Given the description of an element on the screen output the (x, y) to click on. 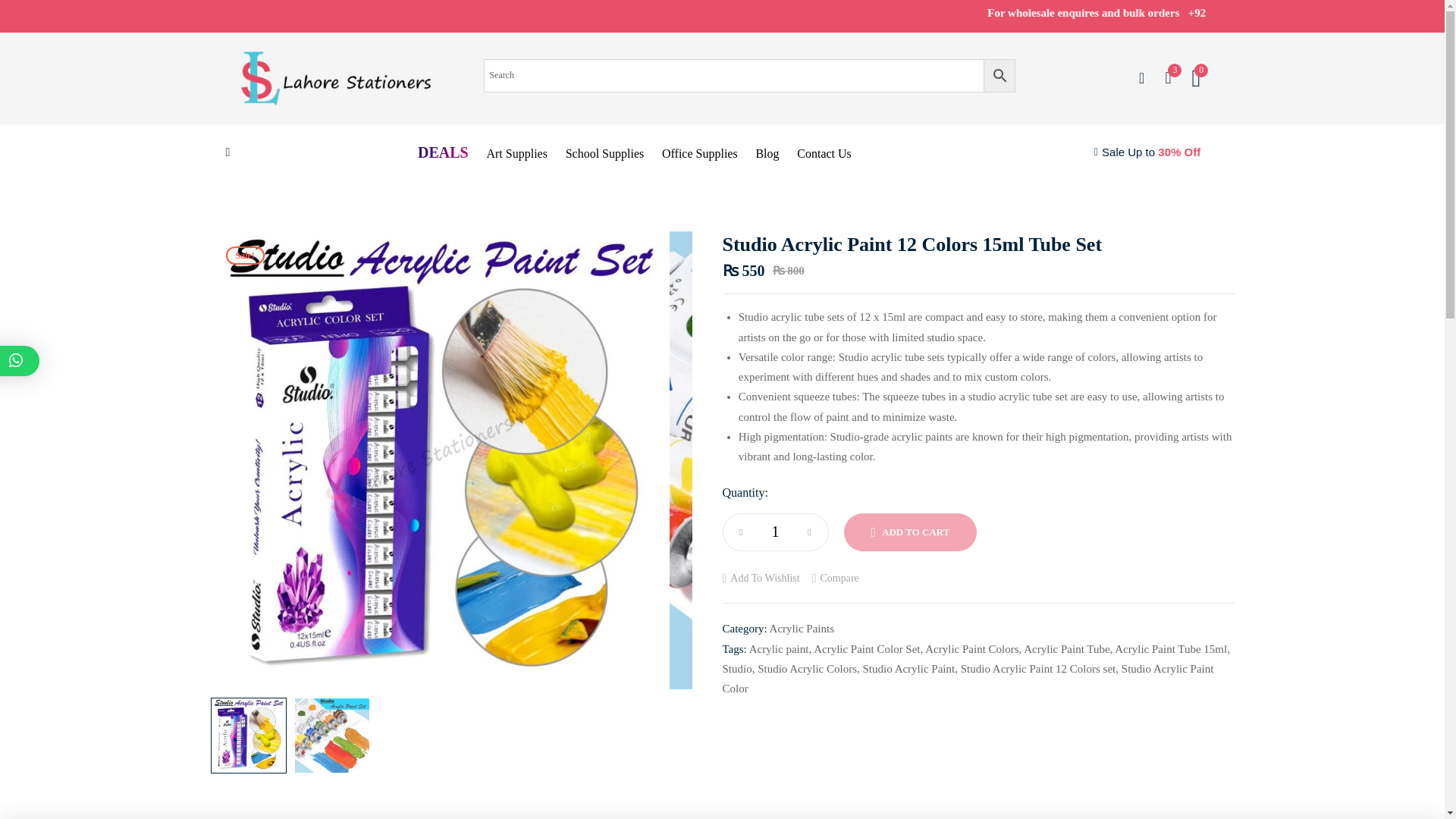
1 (775, 531)
